Given the description of an element on the screen output the (x, y) to click on. 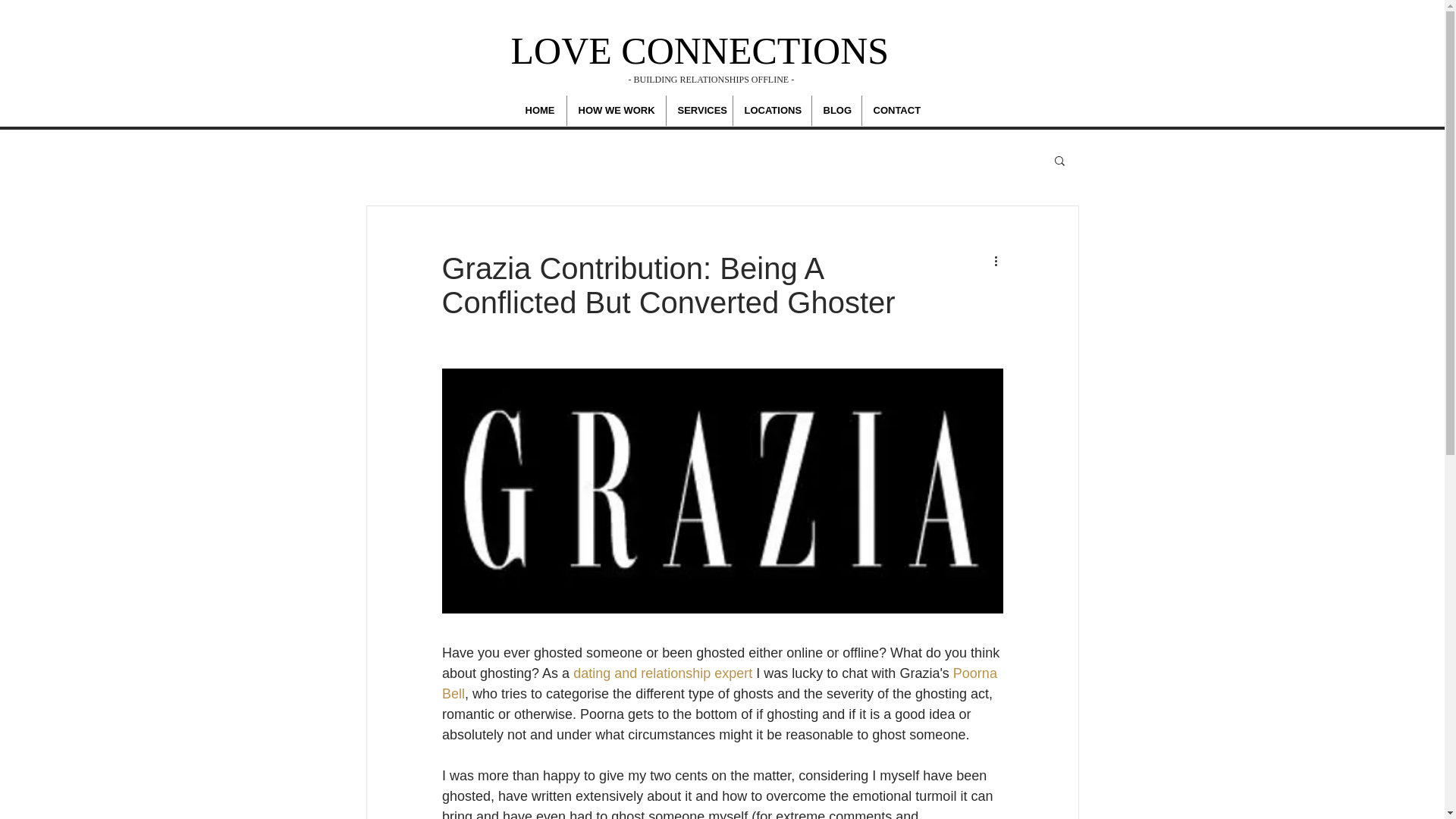
CONTACT (895, 110)
SERVICES (698, 110)
HOW WE WORK (616, 110)
HOME (539, 110)
dating and relationship expert (662, 672)
LOCATIONS (771, 110)
BLOG (835, 110)
Poorna Bell (720, 683)
